Given the description of an element on the screen output the (x, y) to click on. 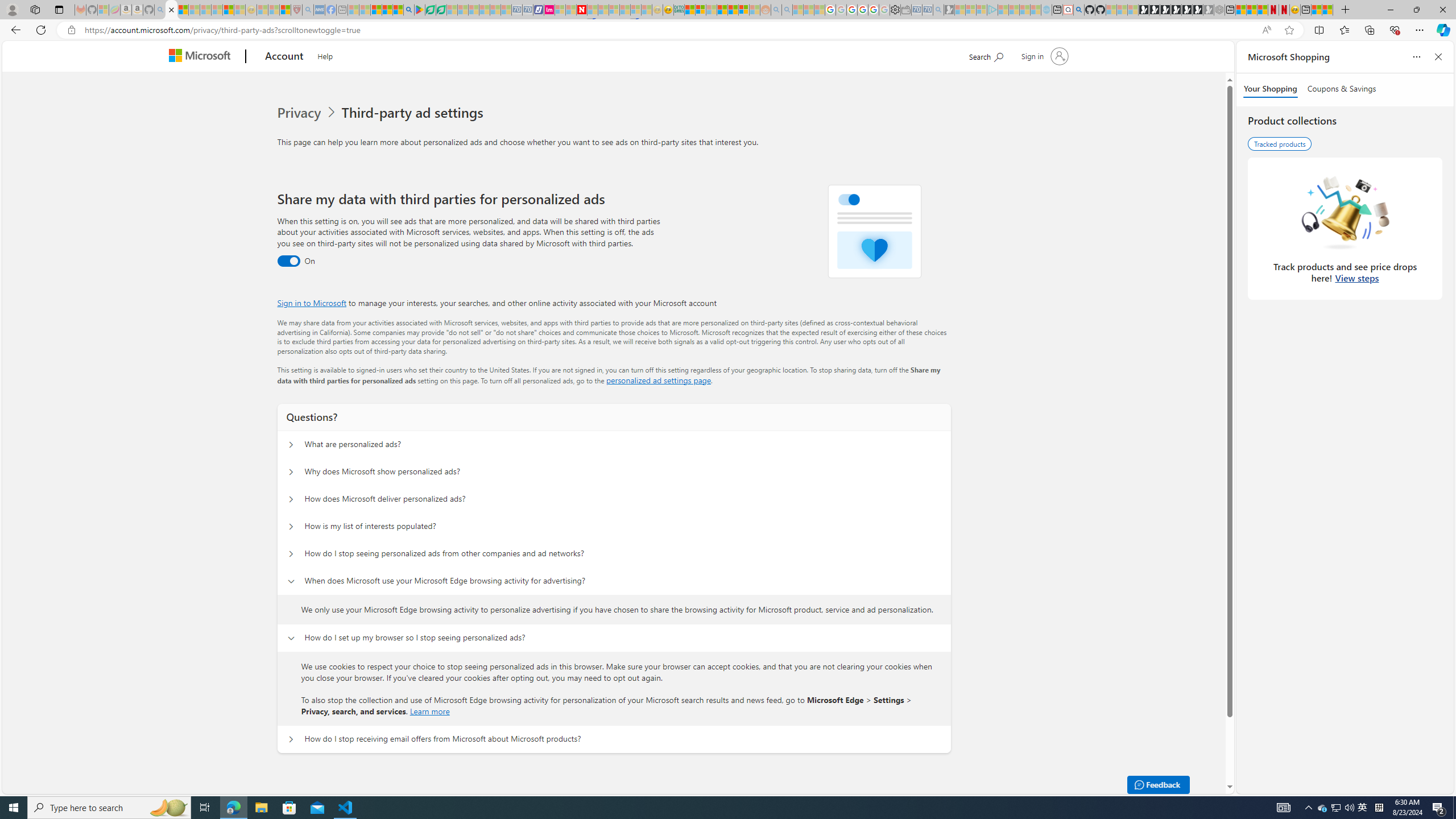
Help (325, 54)
Local - MSN (285, 9)
Third party data sharing toggle (287, 260)
